Given the description of an element on the screen output the (x, y) to click on. 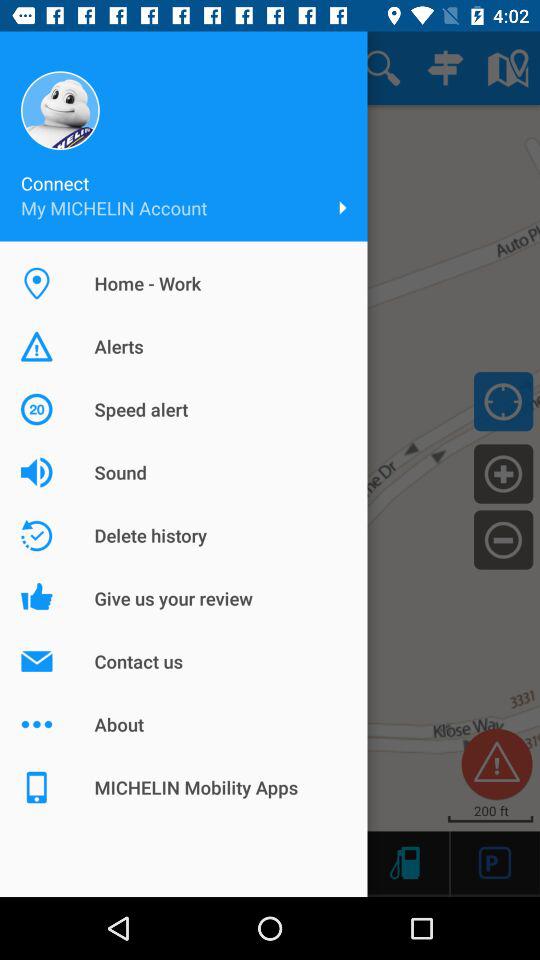
make smaller (503, 539)
